Given the description of an element on the screen output the (x, y) to click on. 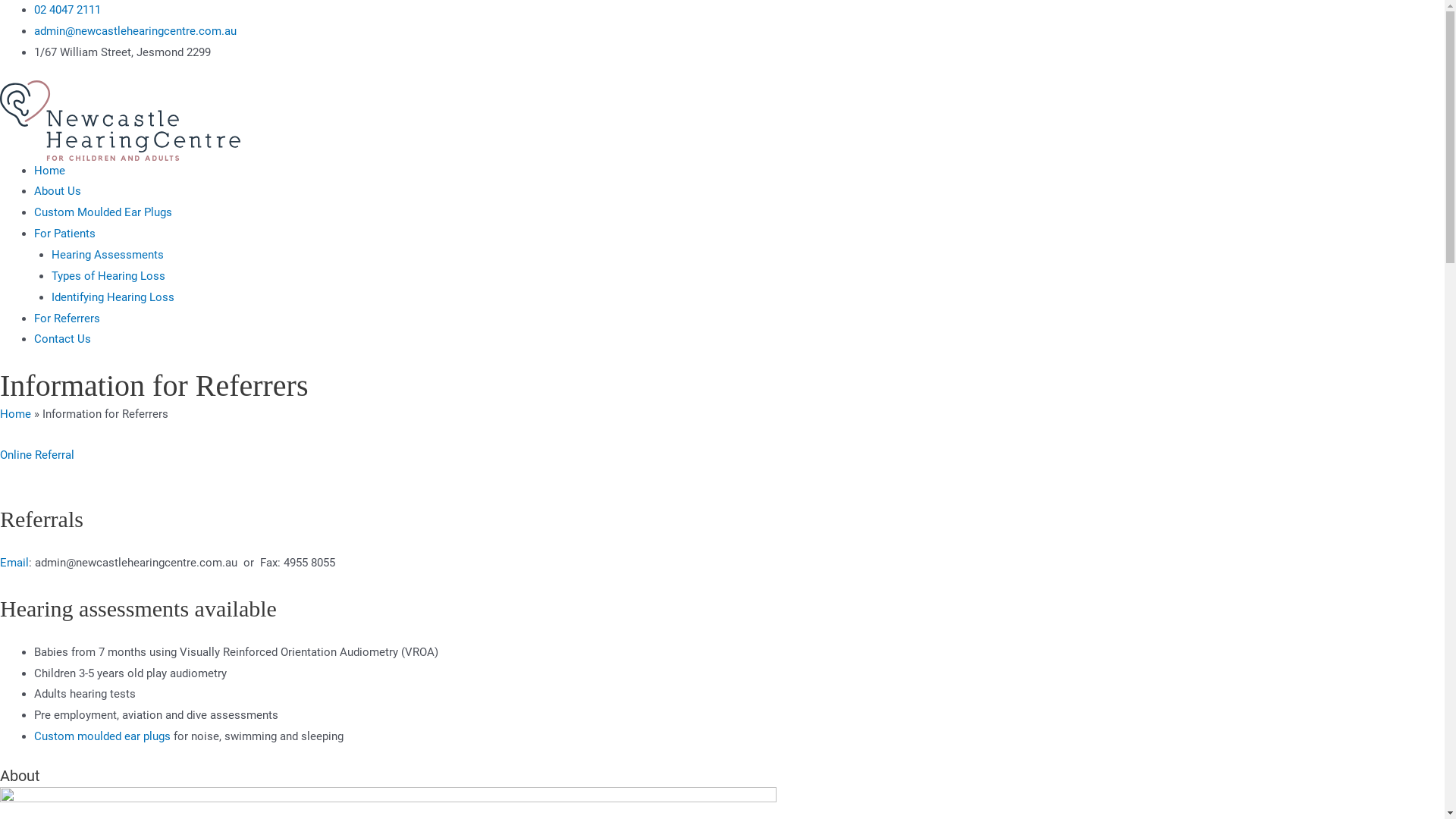
Home Element type: text (15, 413)
Contact Us Element type: text (62, 338)
Email Element type: text (14, 562)
Custom Moulded Ear Plugs Element type: text (103, 212)
For Patients Element type: text (64, 233)
Identifying Hearing Loss Element type: text (112, 297)
admin@newcastlehearingcentre.com.au Element type: text (135, 30)
Custom moulded ear plugs Element type: text (102, 736)
Online Referral Element type: text (37, 454)
02 4047 2111 Element type: text (67, 9)
About Us Element type: text (57, 190)
Types of Hearing Loss Element type: text (108, 275)
Hearing Assessments Element type: text (107, 254)
Home Element type: text (49, 170)
For Referrers Element type: text (67, 318)
